Given the description of an element on the screen output the (x, y) to click on. 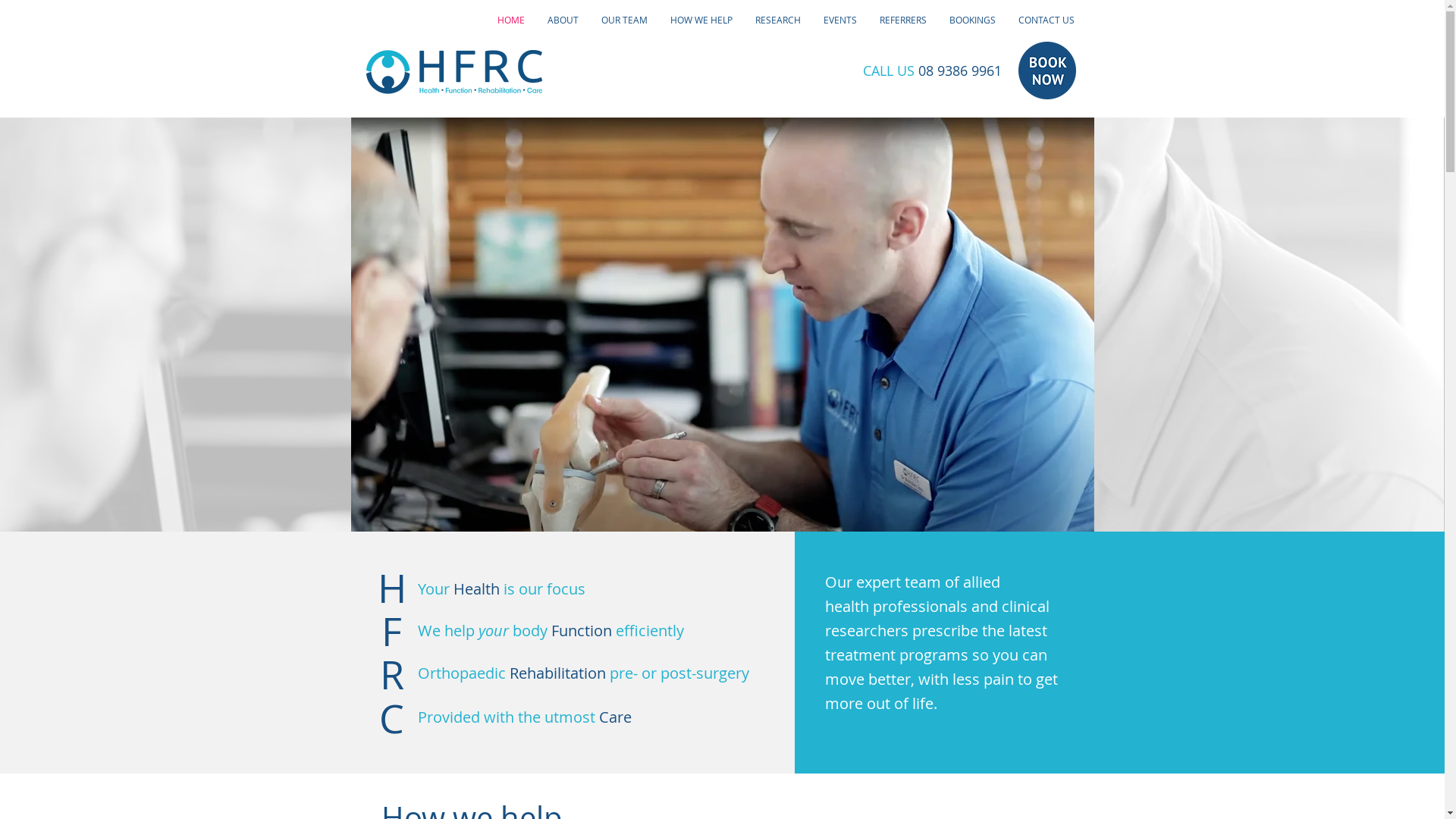
CALL US 08 9386 9961 Element type: text (931, 70)
HOW WE HELP Element type: text (700, 20)
CONTACT US Element type: text (1046, 20)
BOOKINGS Element type: text (971, 20)
OUR TEAM Element type: text (623, 20)
ABOUT Element type: text (562, 20)
EVENTS Element type: text (839, 20)
RESEARCH Element type: text (777, 20)
HOME Element type: text (510, 20)
REFERRERS Element type: text (902, 20)
